Given the description of an element on the screen output the (x, y) to click on. 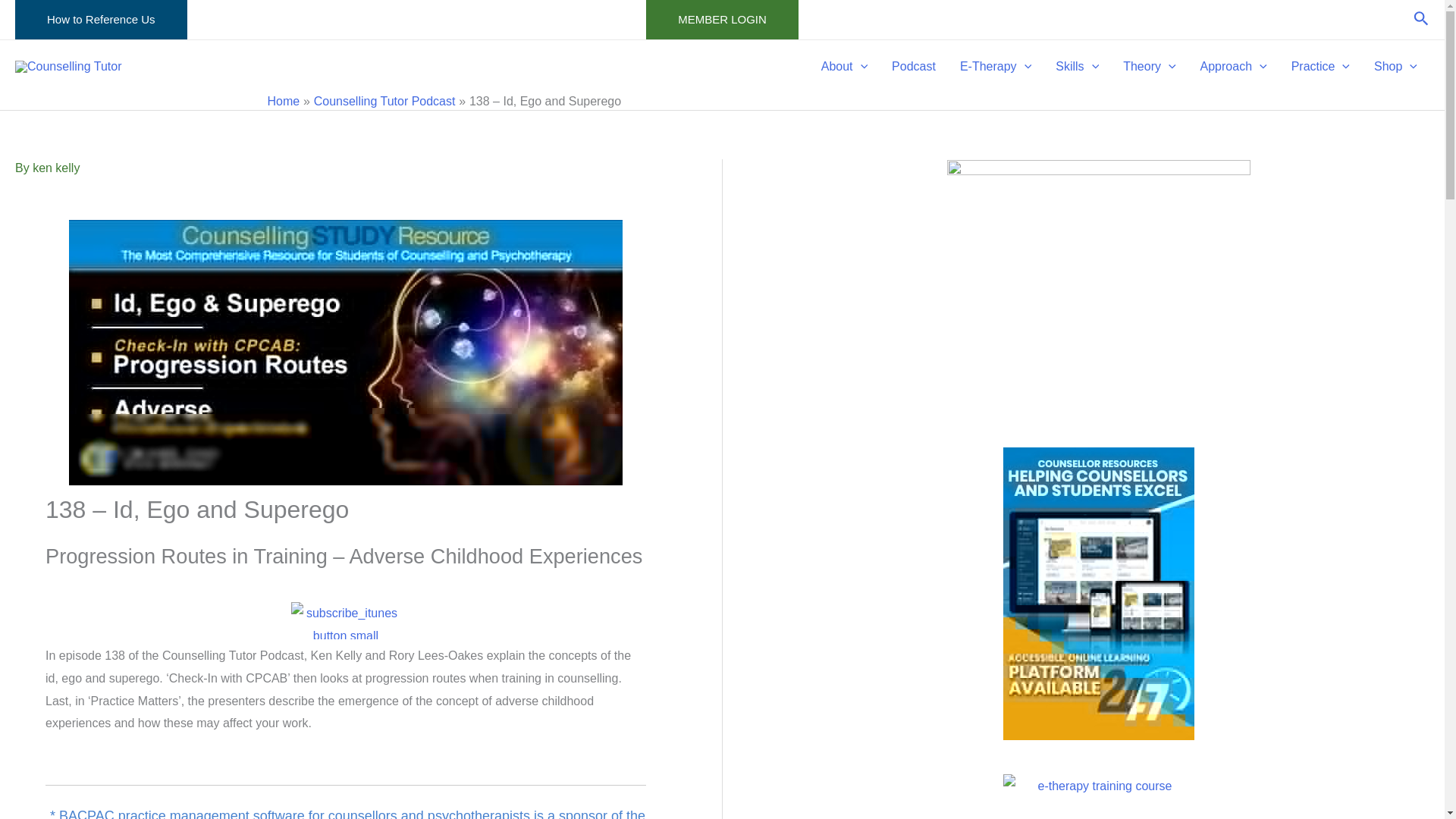
Podcast (913, 66)
How to Reference Us (100, 19)
Skills (1076, 66)
MEMBER LOGIN (721, 19)
E-Therapy (995, 66)
View all posts by ken kelly (56, 167)
About (844, 66)
